Given the description of an element on the screen output the (x, y) to click on. 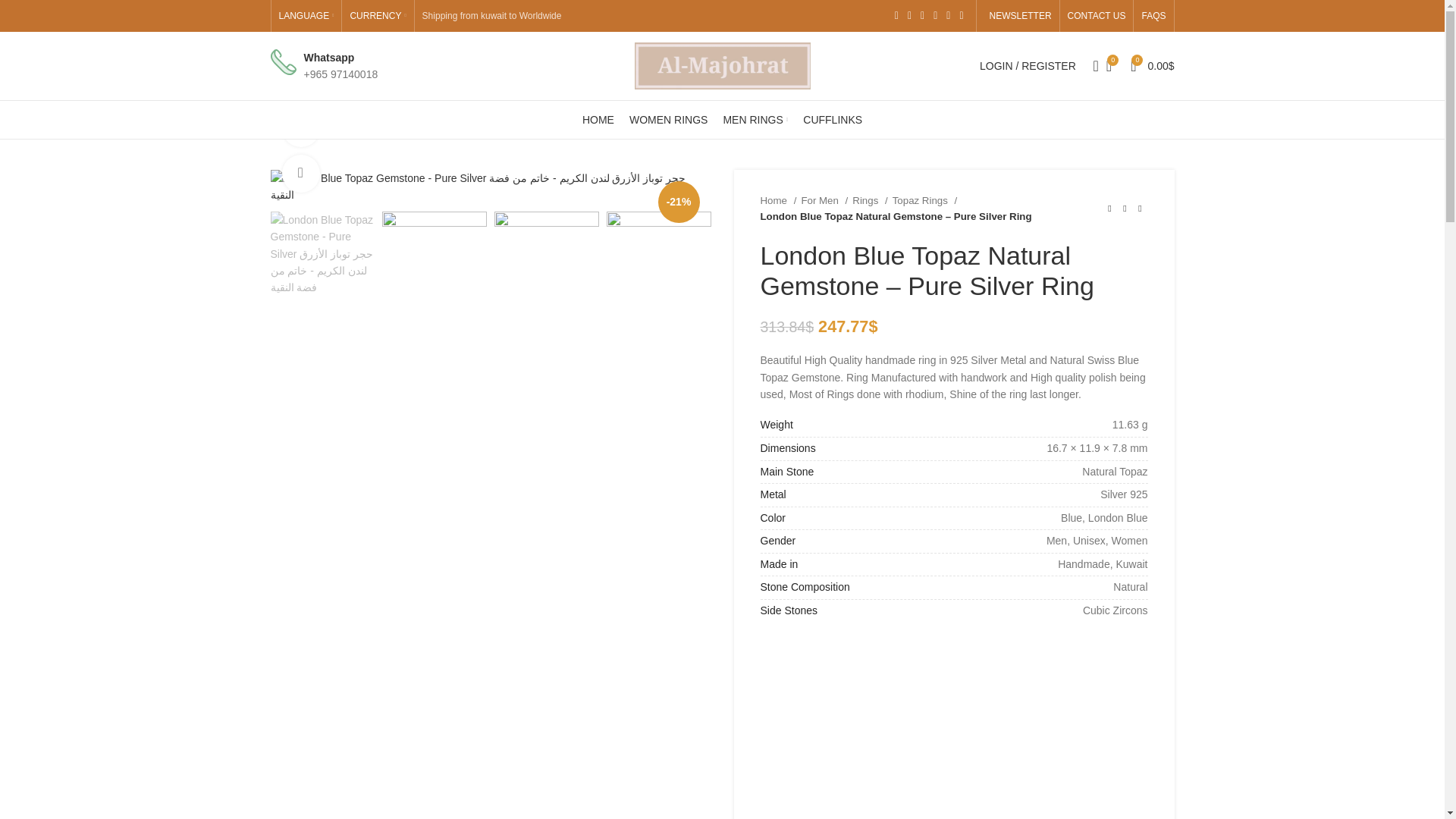
WOMEN RINGS (667, 119)
HOME (598, 119)
technology (282, 62)
CURRENCY (377, 15)
NEWSLETTER (1017, 15)
MEN RINGS (754, 119)
Shopping cart (1151, 65)
My account (1027, 65)
CONTACT US (1096, 15)
LANGUAGE (306, 15)
